Given the description of an element on the screen output the (x, y) to click on. 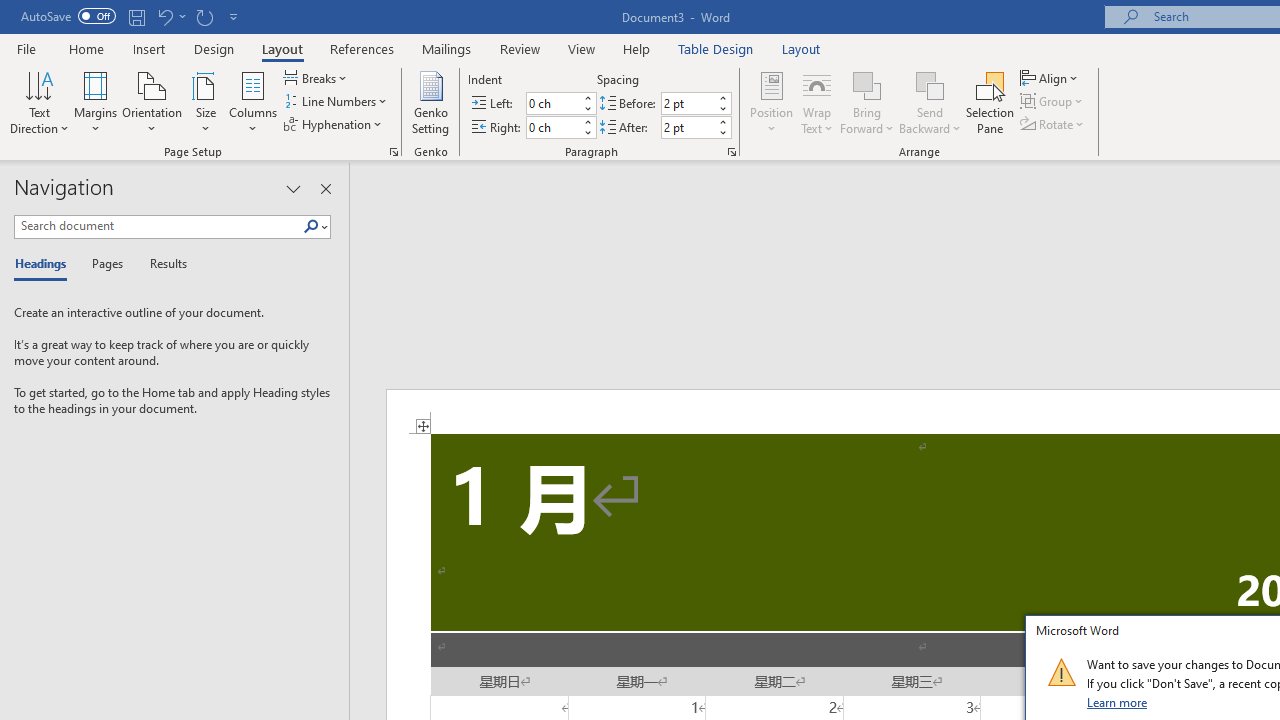
Headings (45, 264)
Indent Left (552, 103)
Text Direction (39, 102)
Send Backward (930, 84)
File Tab (26, 48)
Send Backward (930, 102)
Hyphenation (334, 124)
Close pane (325, 188)
Columns (253, 102)
Bring Forward (867, 102)
Learn more (1118, 702)
Align (1051, 78)
Insert (149, 48)
Spacing After (687, 127)
